Given the description of an element on the screen output the (x, y) to click on. 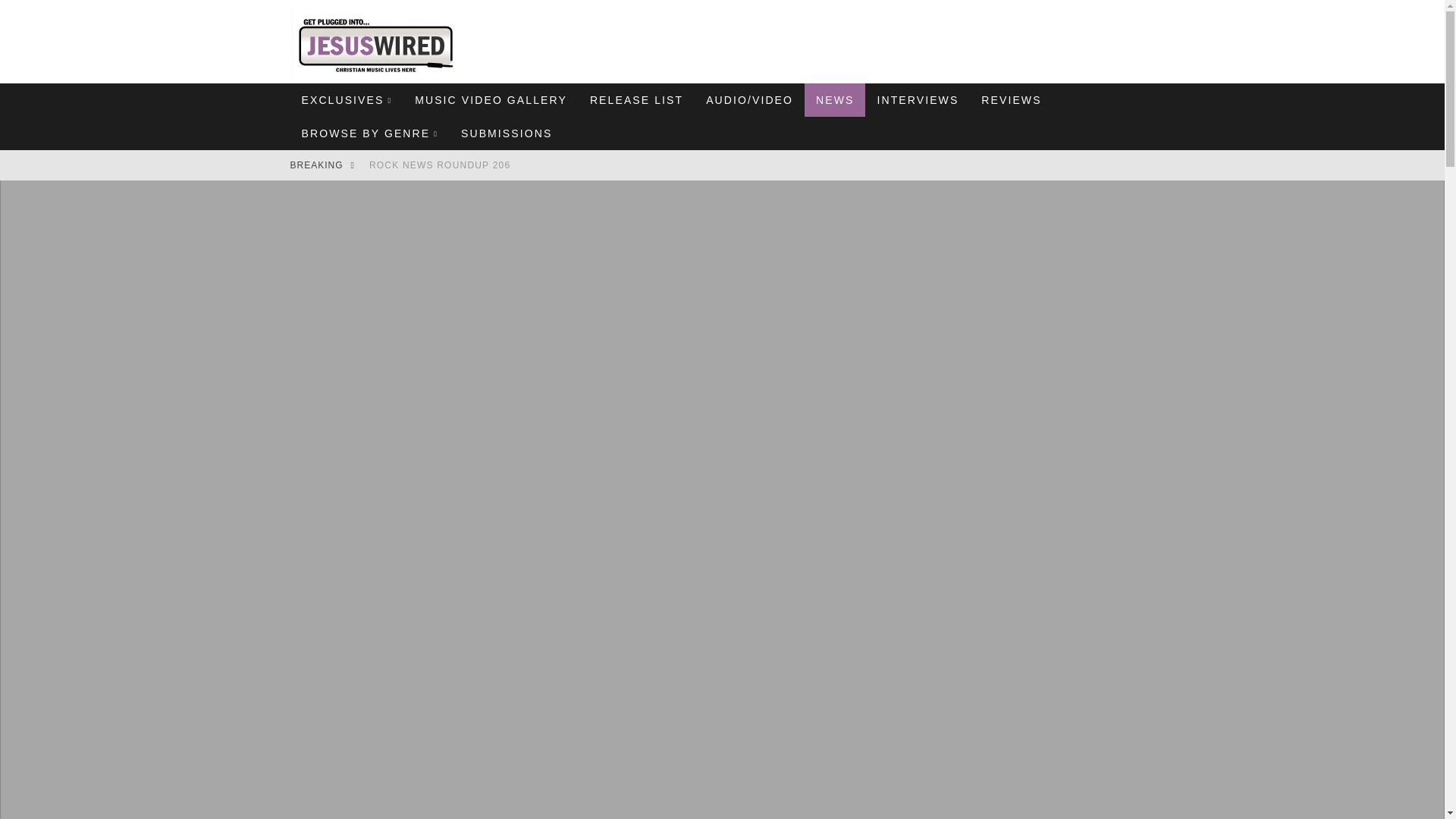
MUSIC VIDEO GALLERY (490, 100)
Rock News Roundup 206 (440, 164)
RELEASE LIST (636, 100)
EXCLUSIVES (346, 100)
